Given the description of an element on the screen output the (x, y) to click on. 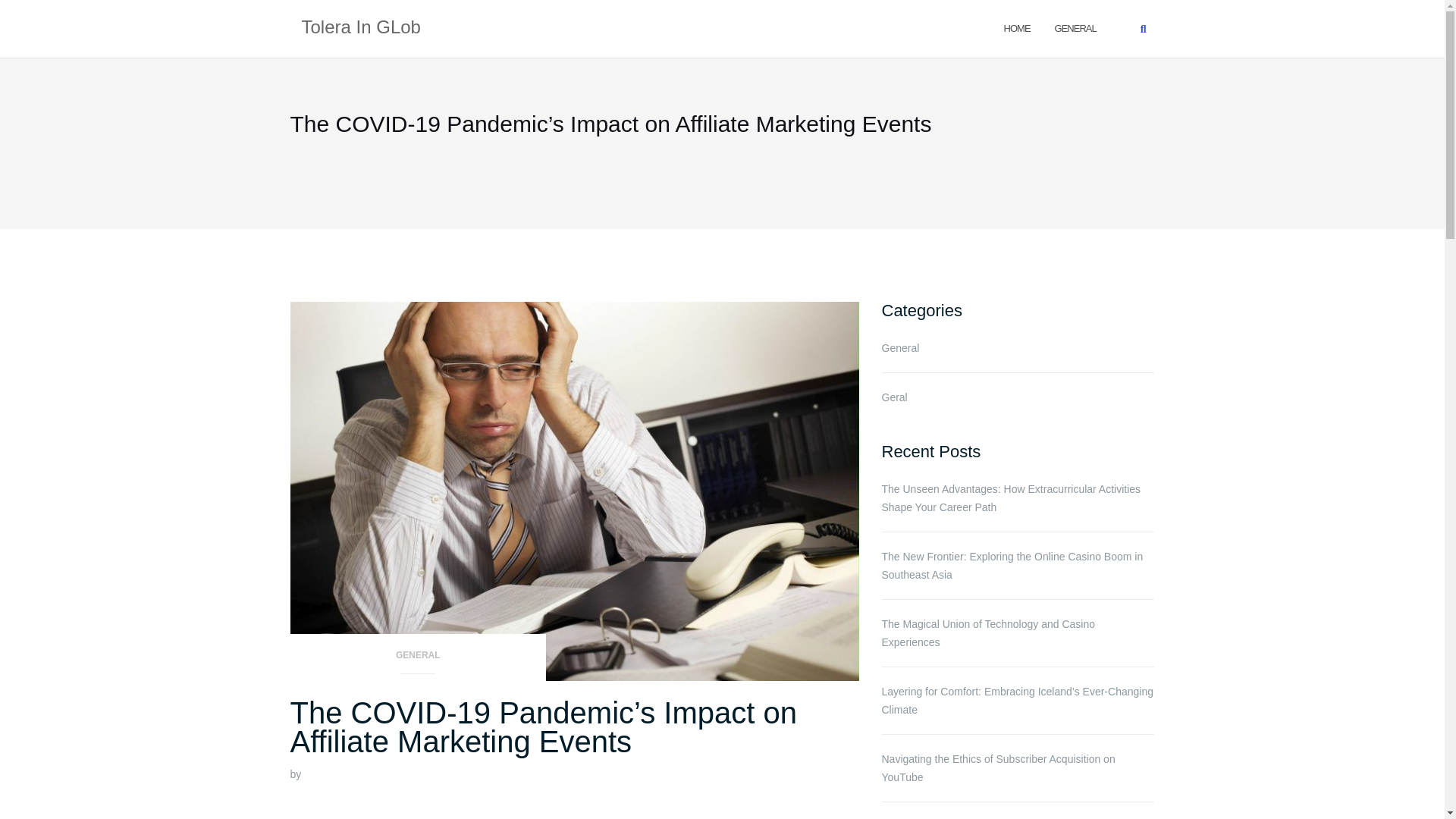
Tolera In GLob (360, 28)
GENERAL (417, 660)
General (1075, 28)
GENERAL (1075, 28)
